Given the description of an element on the screen output the (x, y) to click on. 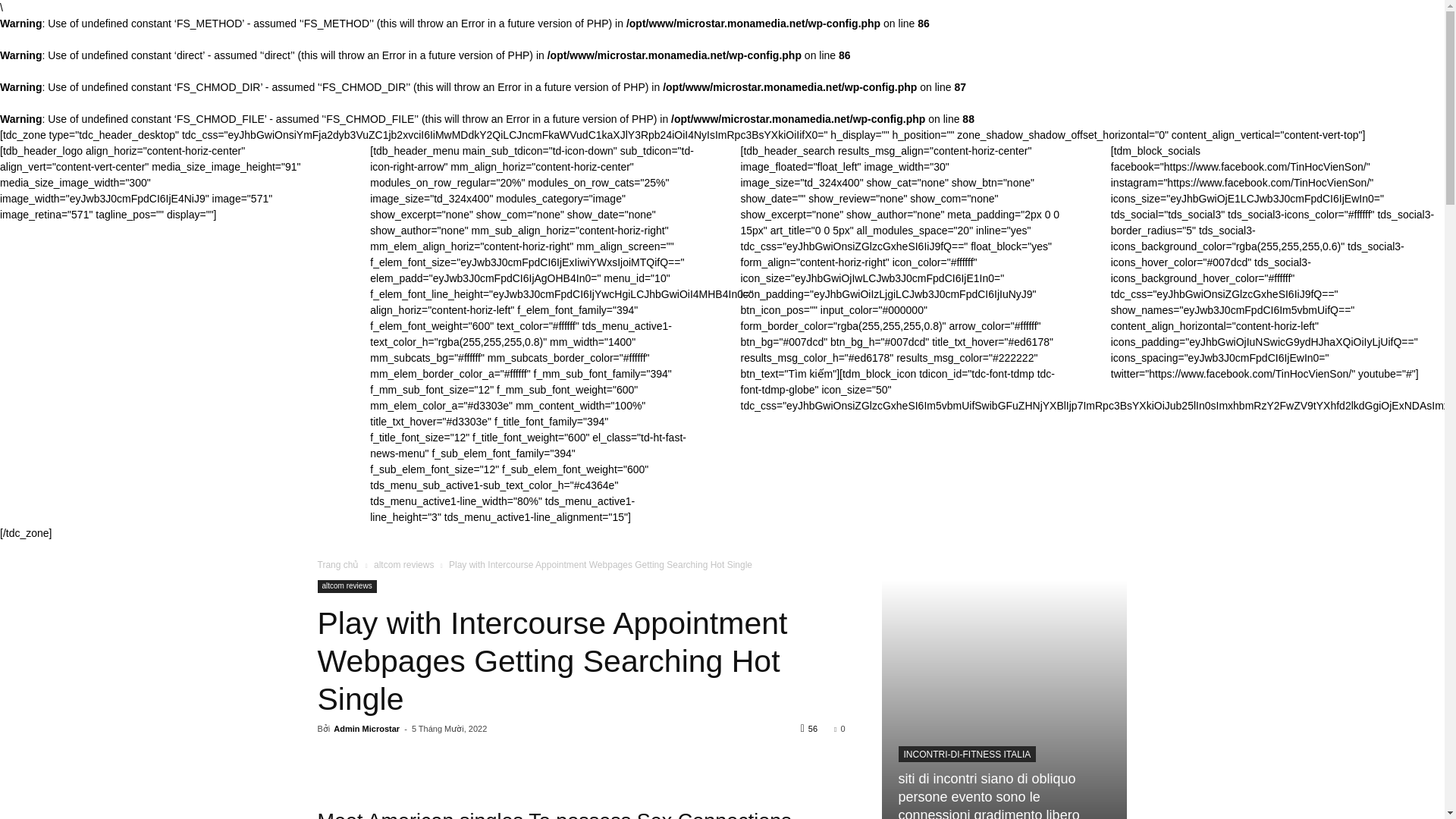
Admin Microstar (365, 728)
altcom reviews (346, 585)
altcom reviews (403, 564)
0 (839, 728)
